Given the description of an element on the screen output the (x, y) to click on. 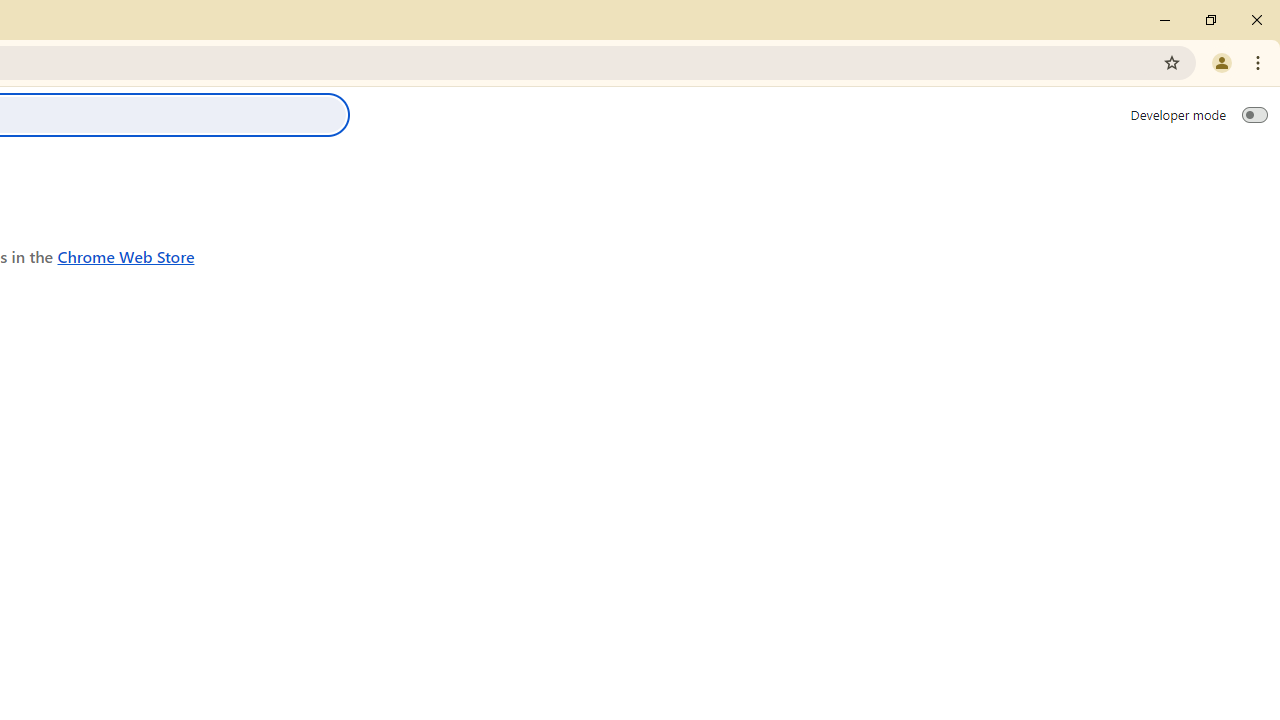
Developer mode (1254, 114)
Chrome Web Store (125, 256)
